Given the description of an element on the screen output the (x, y) to click on. 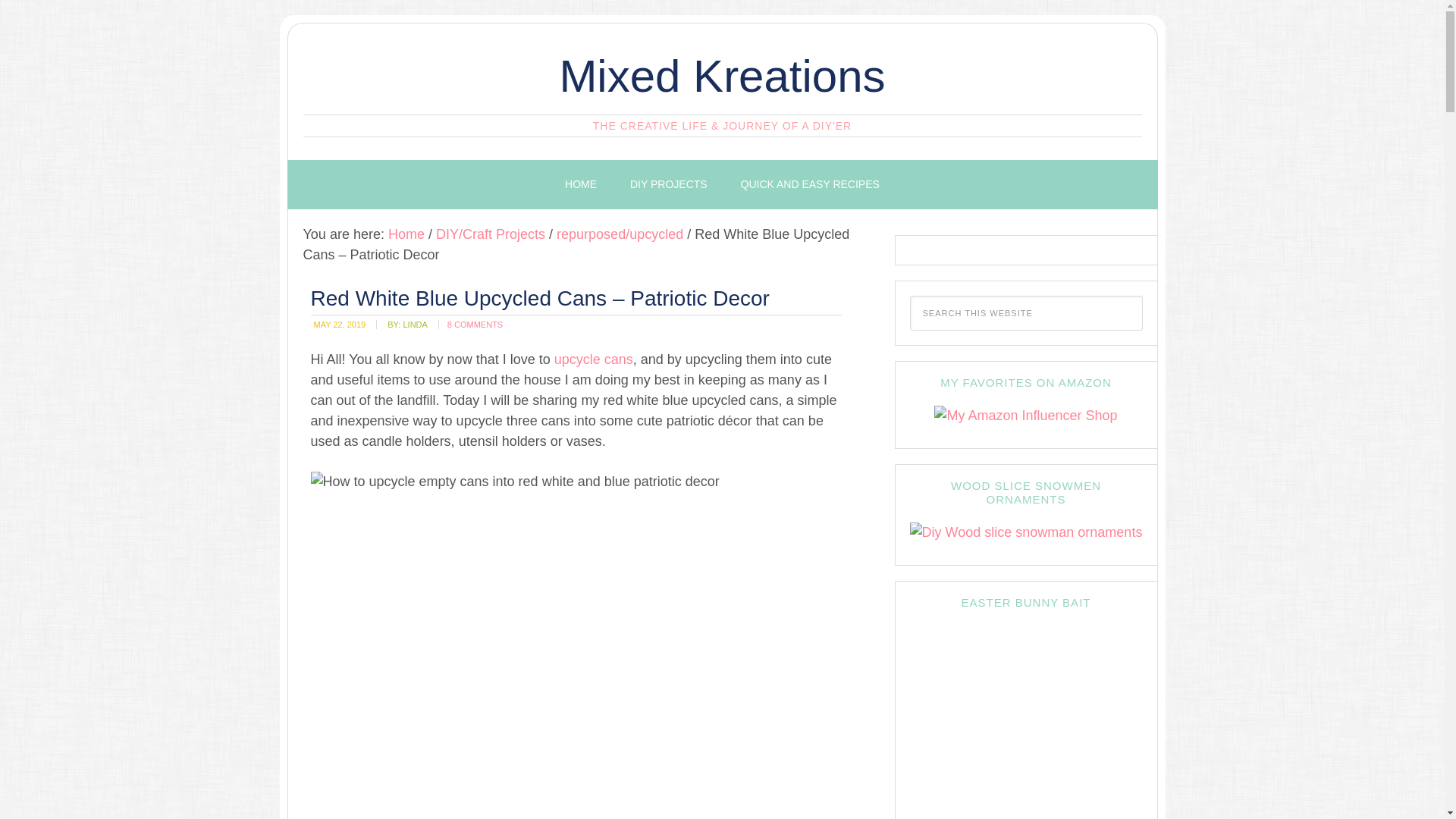
QUICK AND EASY RECIPES (810, 184)
HOME (580, 184)
upcycle cans (593, 359)
Home (406, 233)
DIY PROJECTS (668, 184)
8 COMMENTS (474, 324)
Mixed Kreations (722, 75)
